Given the description of an element on the screen output the (x, y) to click on. 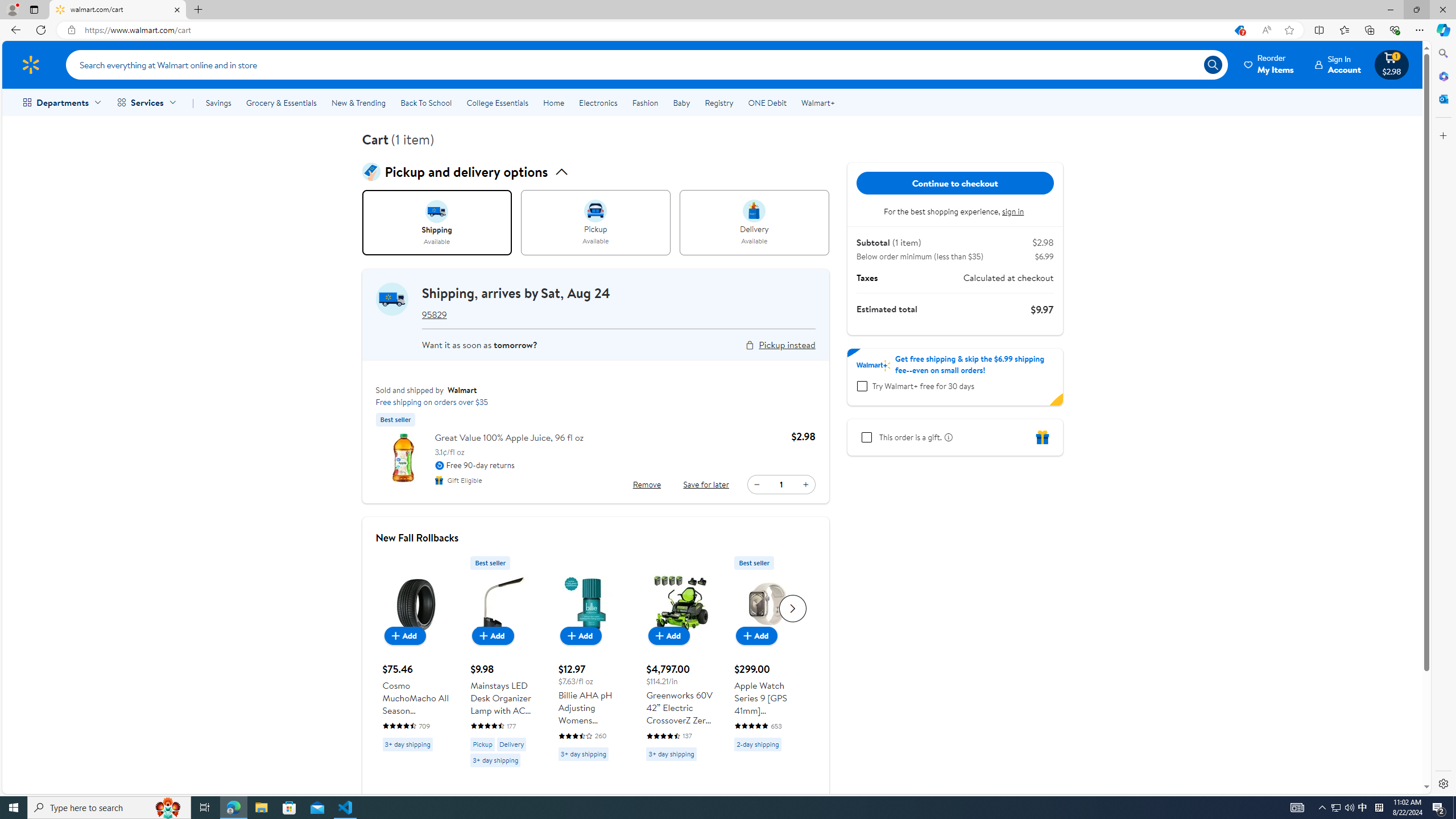
Pickup instead (786, 344)
learn more about gifting (946, 437)
DELIVERY, Available (753, 222)
